Given the description of an element on the screen output the (x, y) to click on. 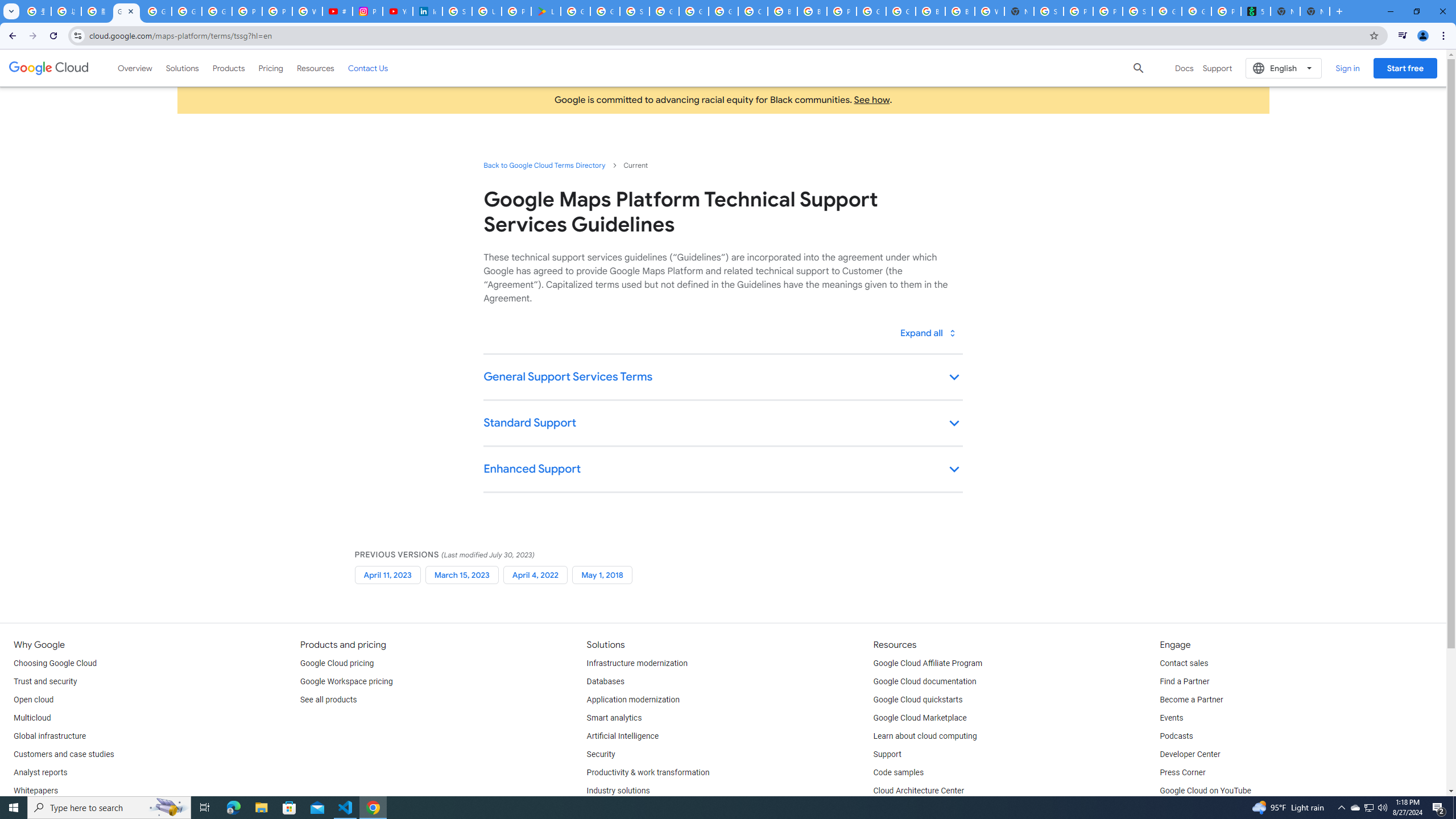
Products (228, 67)
Security (600, 754)
New Tab (1018, 11)
Databases (605, 682)
#nbabasketballhighlights - YouTube (337, 11)
Find a Partner (1183, 682)
Productivity & work transformation (648, 773)
May 1, 2018 (601, 574)
Choosing Google Cloud (55, 663)
March 15, 2023 (462, 574)
Customers and case studies (64, 754)
